Given the description of an element on the screen output the (x, y) to click on. 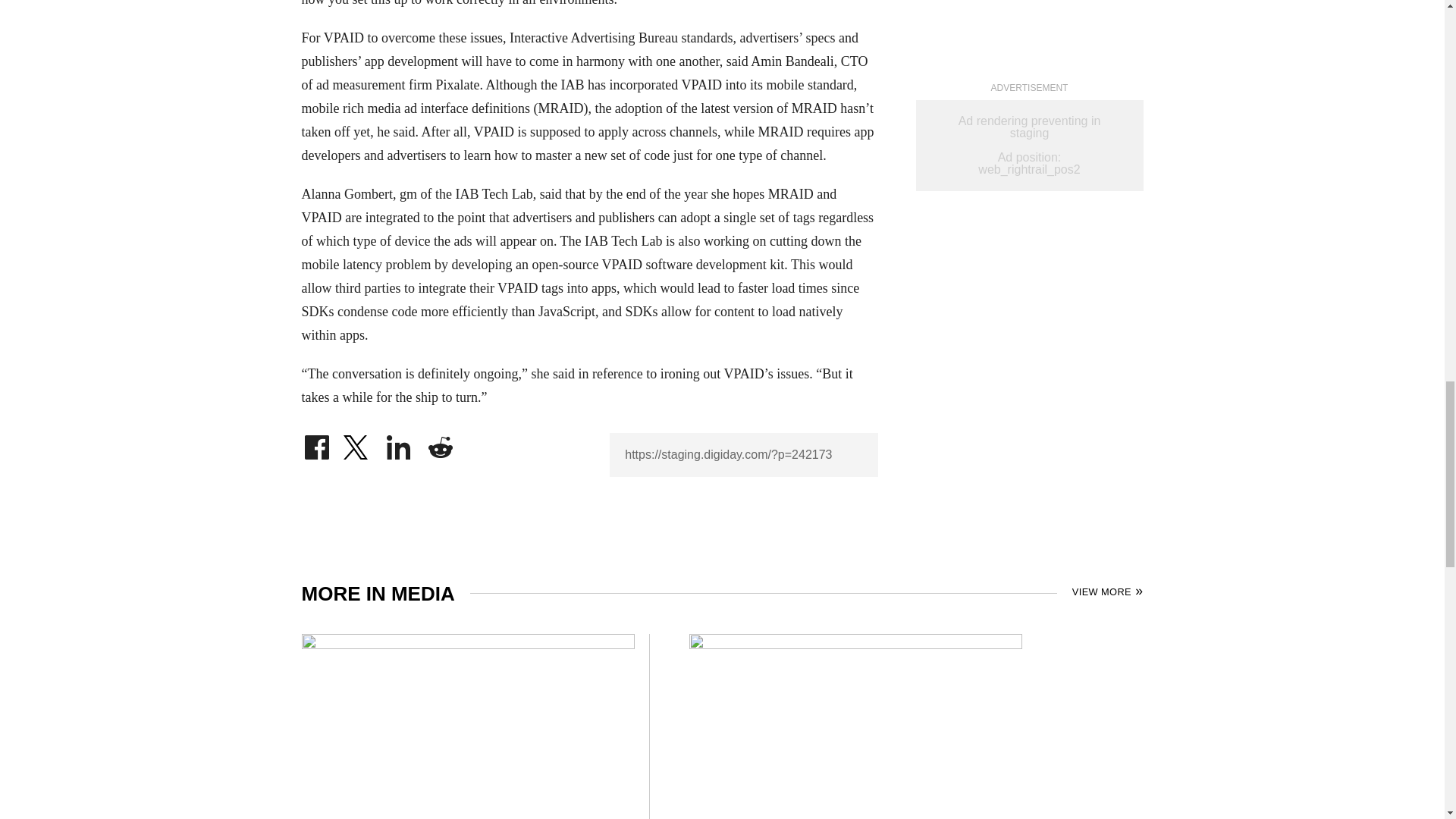
Share on Twitter (357, 443)
Share on Reddit (440, 443)
Share on LinkedIn (398, 443)
Share on Facebook (316, 443)
